Given the description of an element on the screen output the (x, y) to click on. 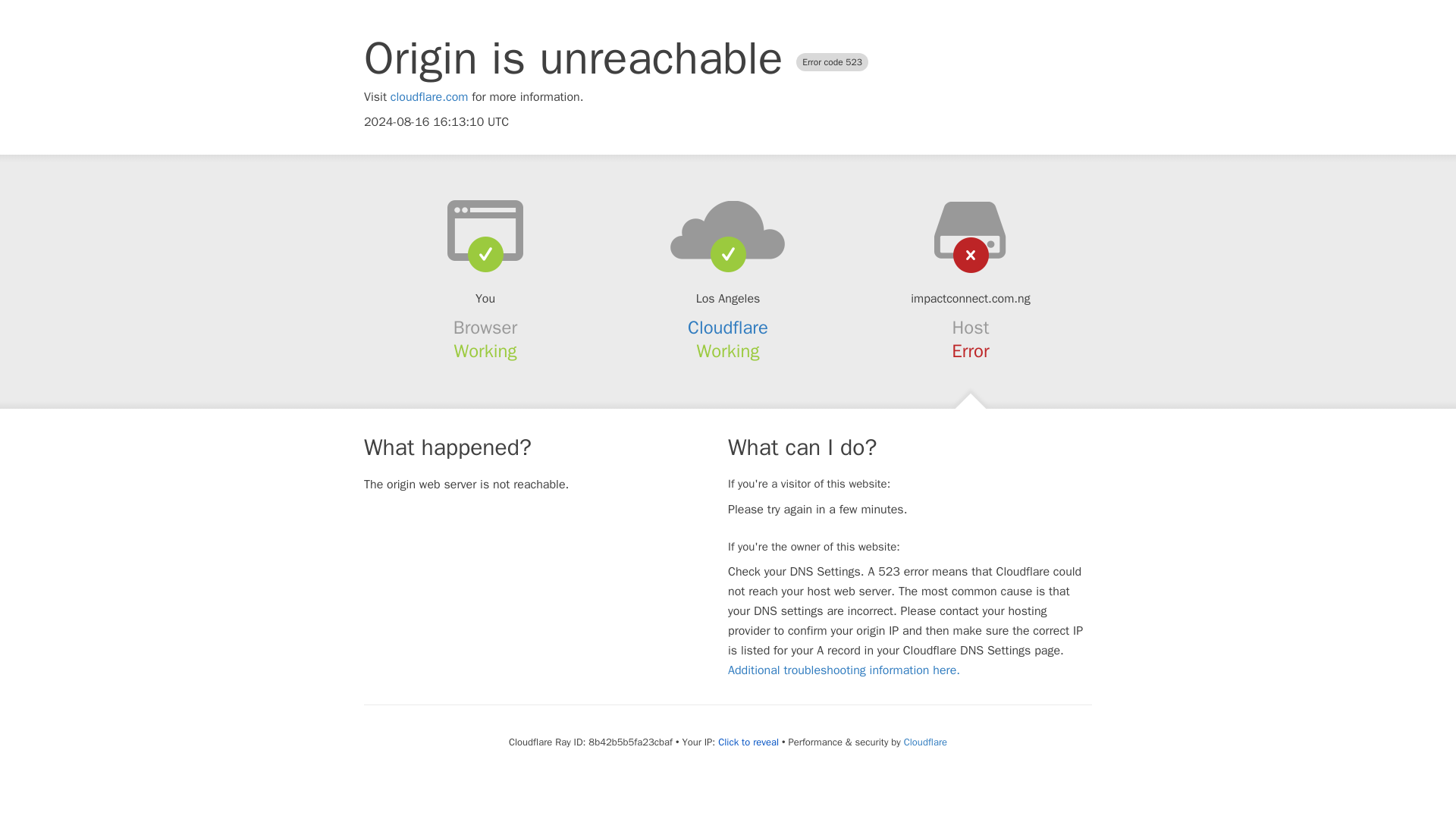
Cloudflare (925, 741)
Click to reveal (747, 742)
cloudflare.com (429, 96)
Cloudflare (727, 327)
Additional troubleshooting information here. (843, 670)
